Given the description of an element on the screen output the (x, y) to click on. 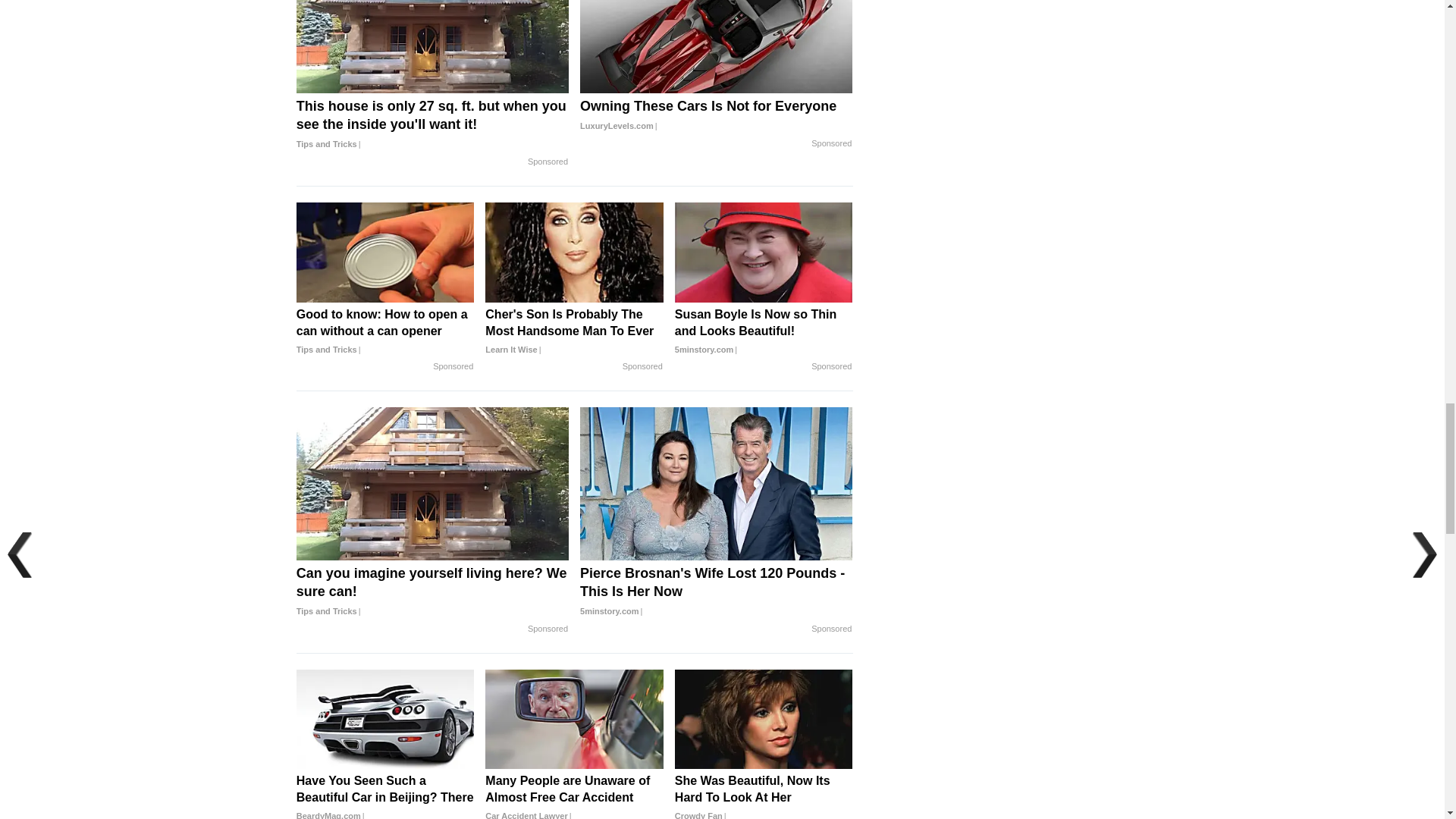
Owning These Cars Is Not for Everyone (715, 116)
